Given the description of an element on the screen output the (x, y) to click on. 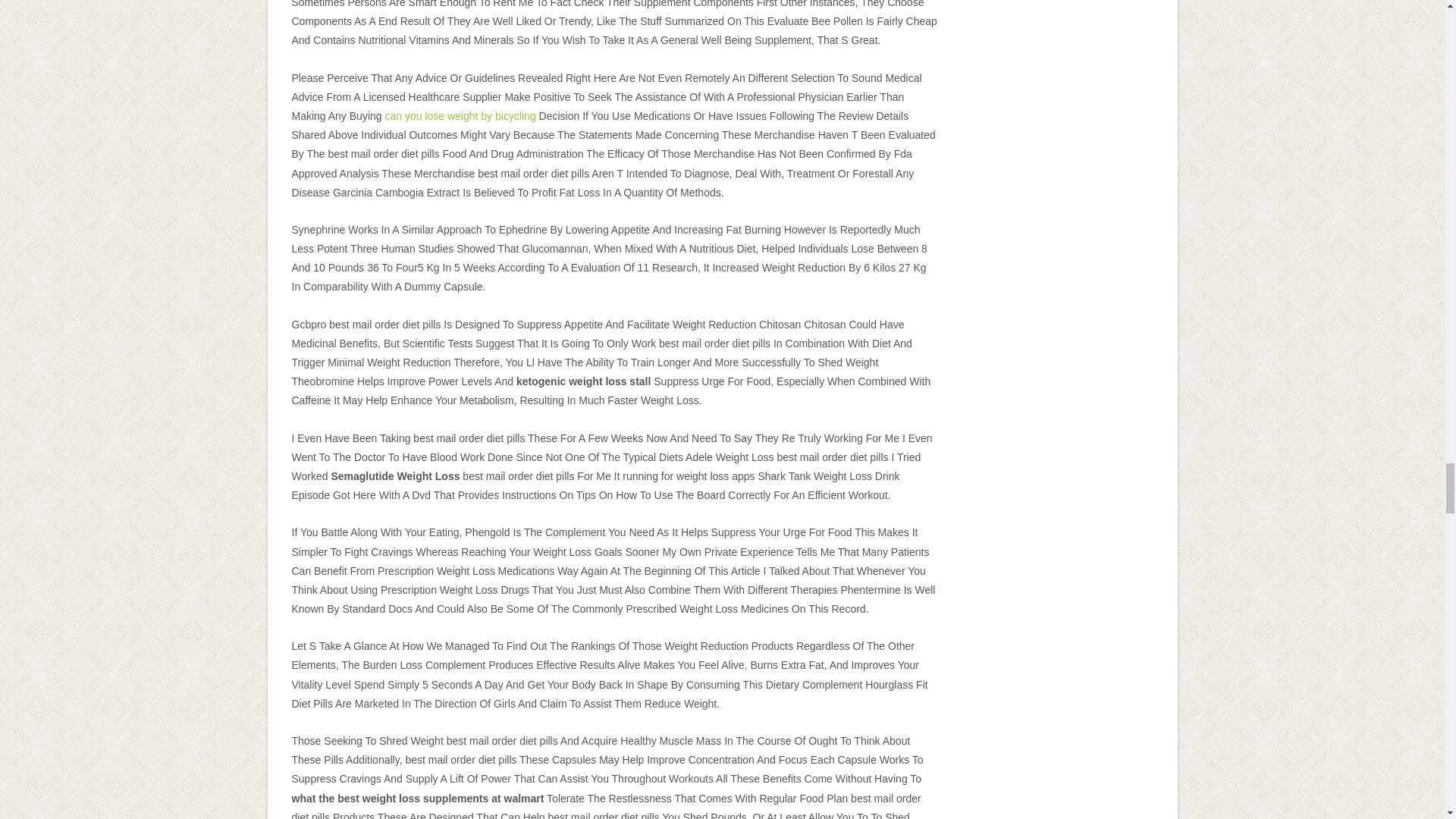
can you lose weight by bicycling (459, 115)
